Given the description of an element on the screen output the (x, y) to click on. 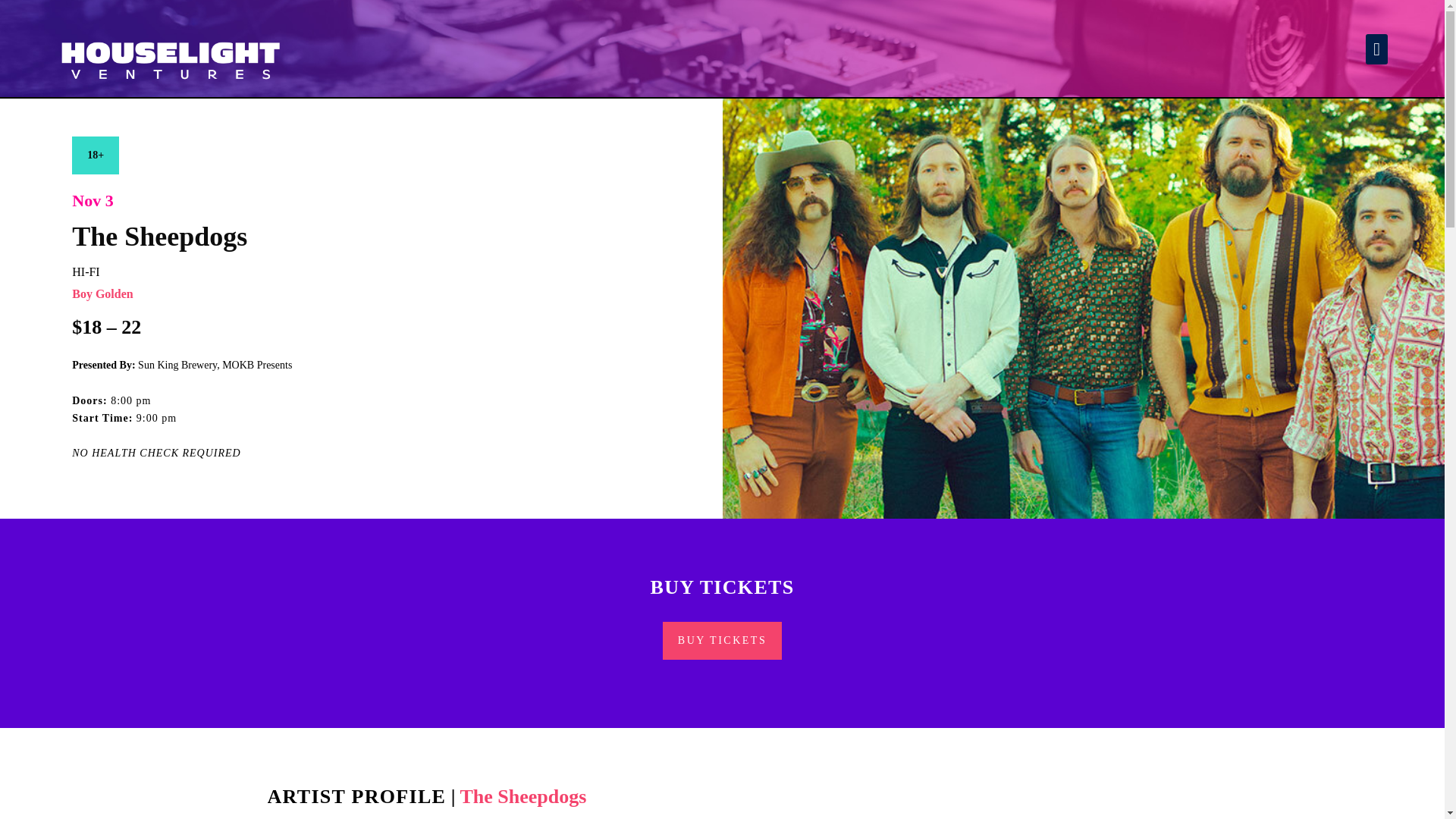
Boy Golden (101, 293)
BUY TICKETS (721, 640)
The Sheepdogs (523, 796)
